Given the description of an element on the screen output the (x, y) to click on. 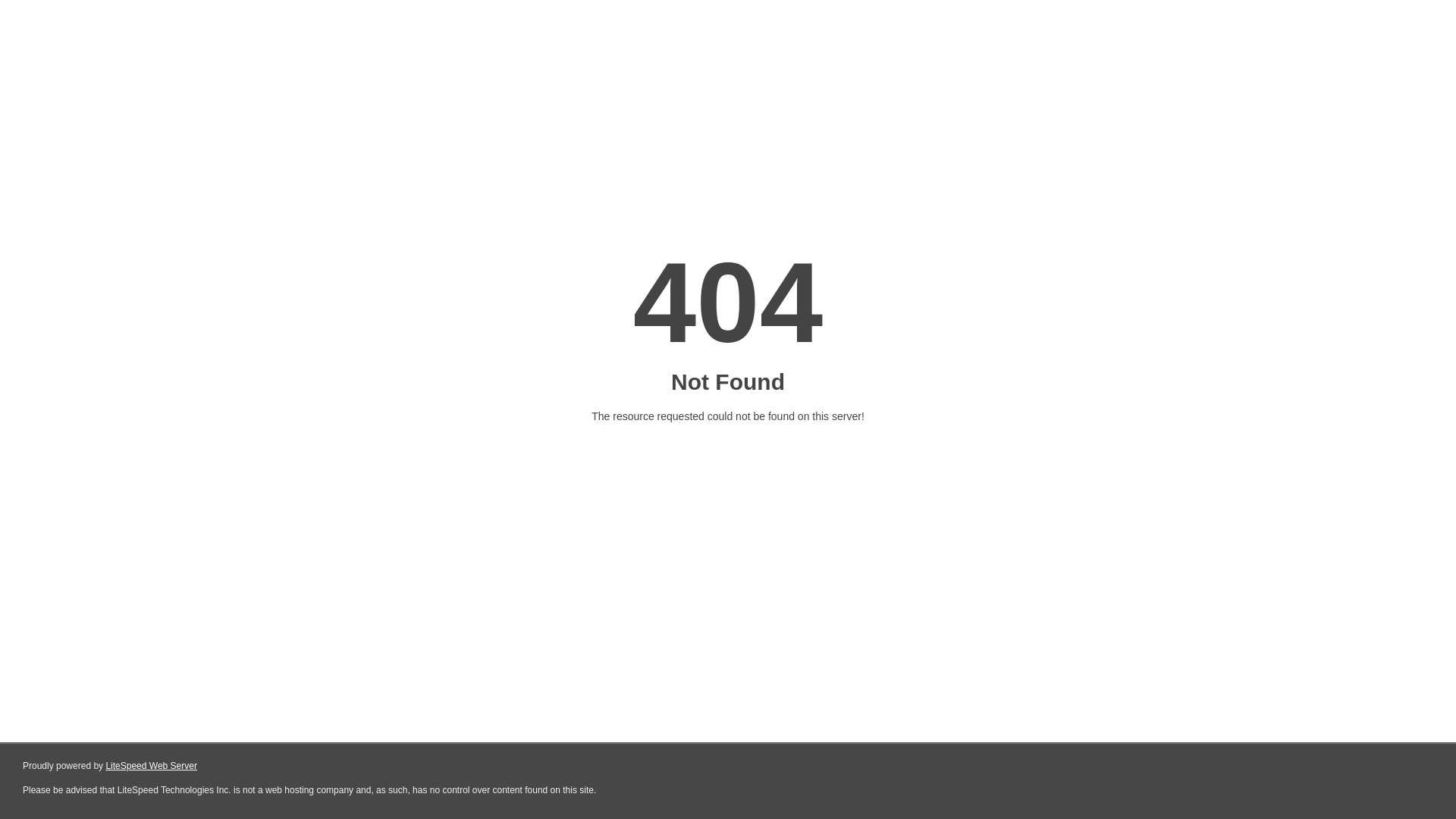
LiteSpeed Web Server Element type: text (151, 765)
